Given the description of an element on the screen output the (x, y) to click on. 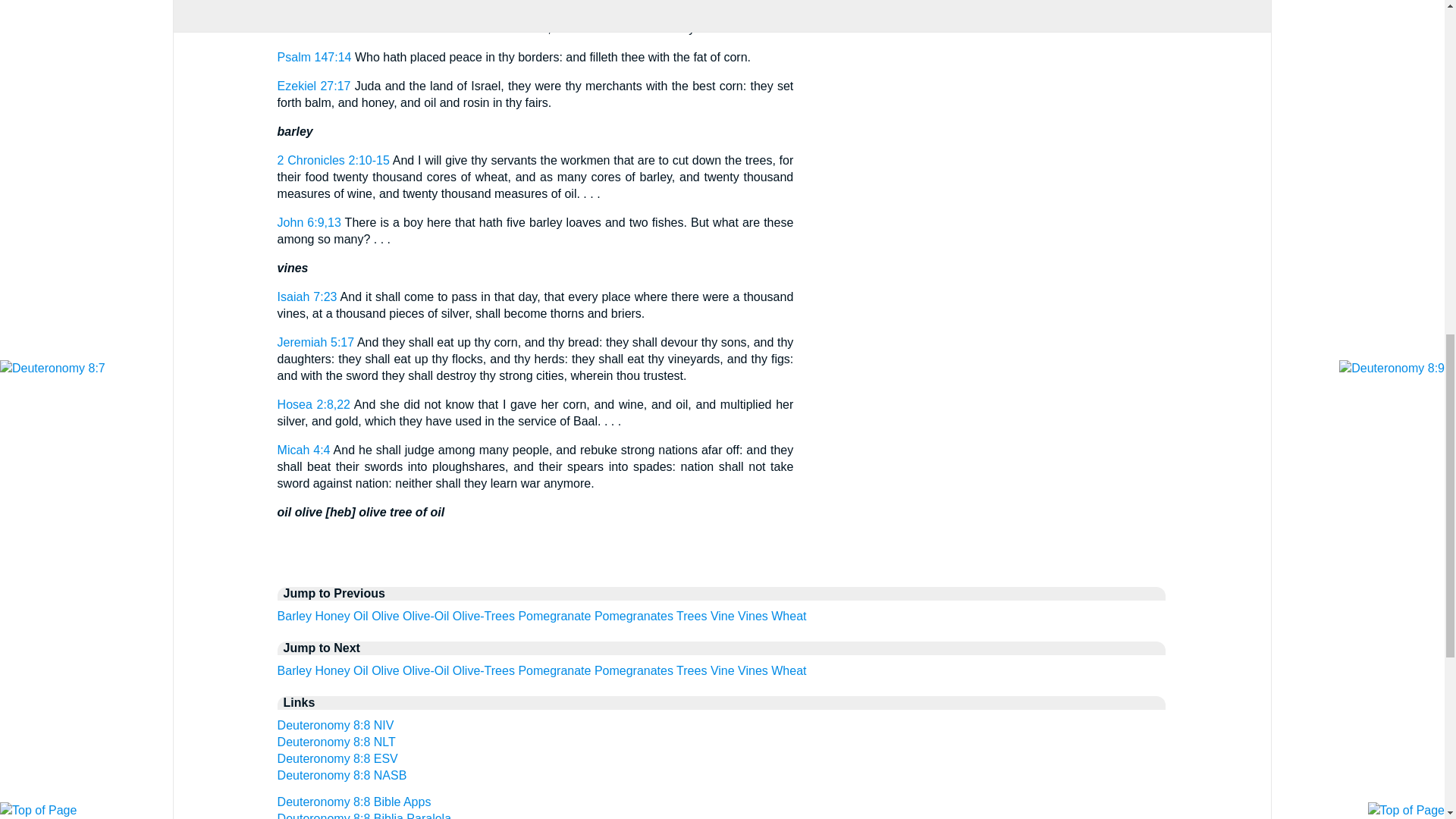
Pomegranate (554, 615)
Ezekiel 27:17 (314, 85)
Vines (753, 615)
2 Chronicles 2:10-15 (334, 160)
Barley (294, 670)
Honey (331, 615)
Isaiah 7:23 (307, 296)
Wheat (788, 615)
Oil (360, 615)
Barley (294, 615)
